Given the description of an element on the screen output the (x, y) to click on. 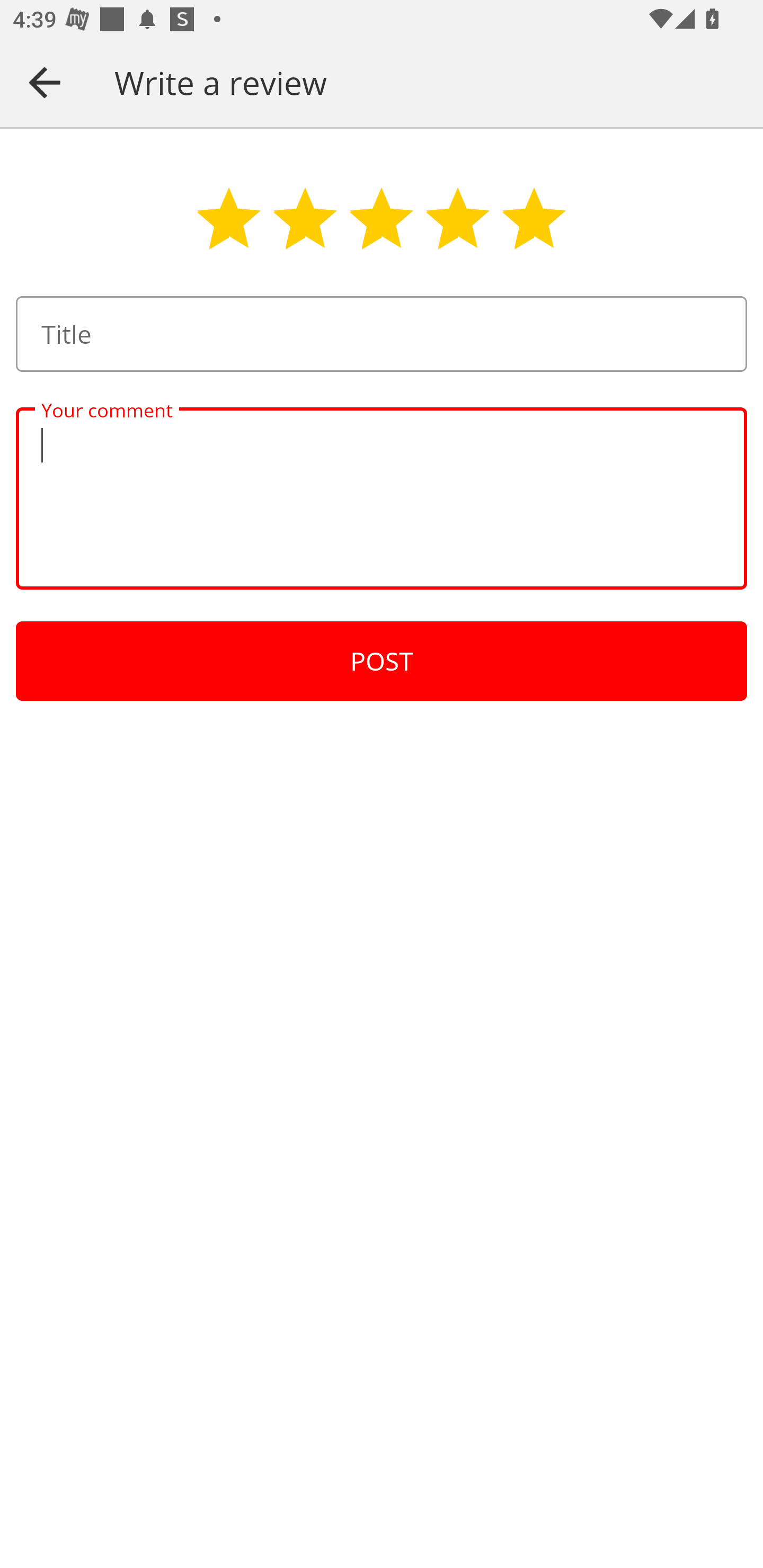
Navigate up (44, 82)
Title (381, 333)
Your comment (381, 498)
POST (381, 660)
